Given the description of an element on the screen output the (x, y) to click on. 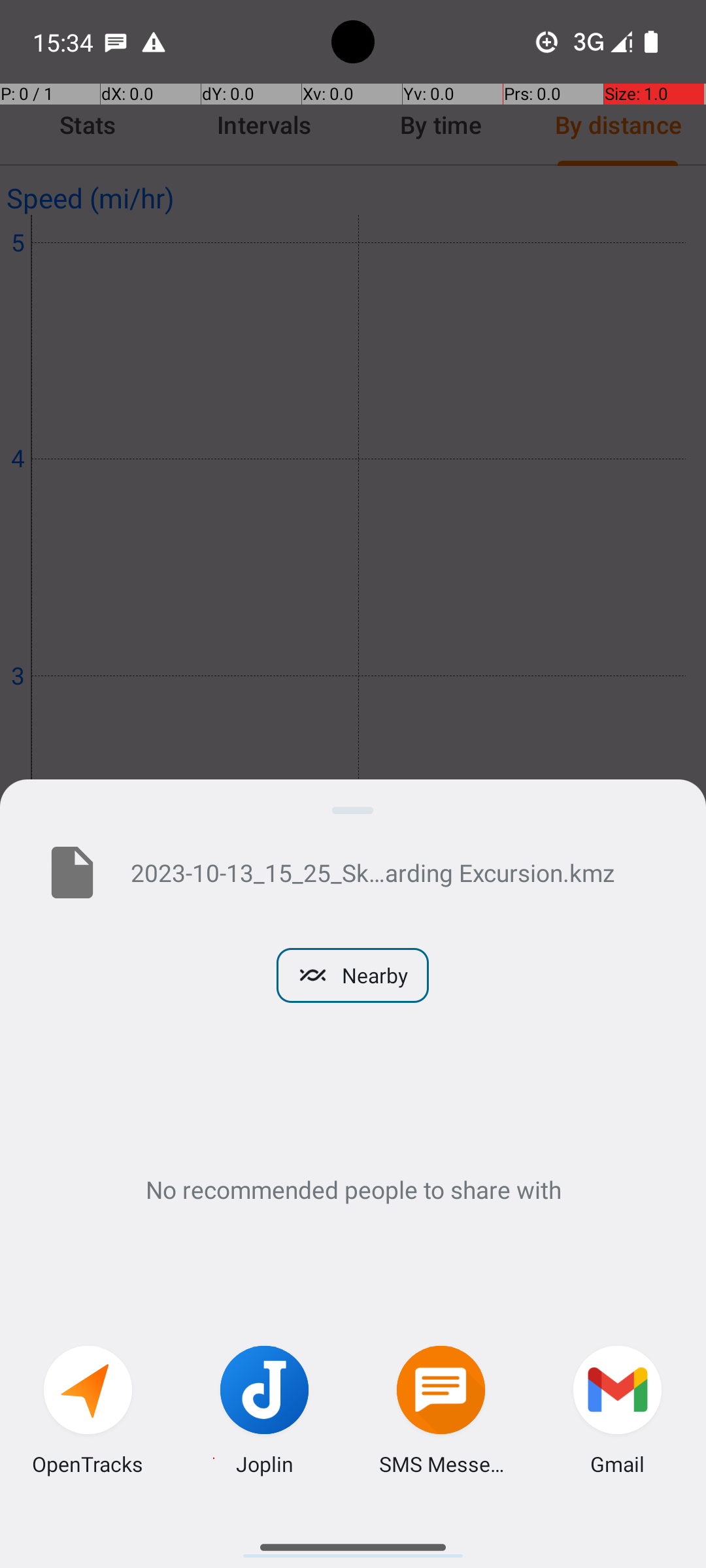
2023-10-13_15_25_Skateboarding Excursion.kmz Element type: android.widget.TextView (397, 872)
OpenTracks Element type: android.widget.TextView (87, 1463)
Joplin Element type: android.widget.TextView (264, 1463)
